Given the description of an element on the screen output the (x, y) to click on. 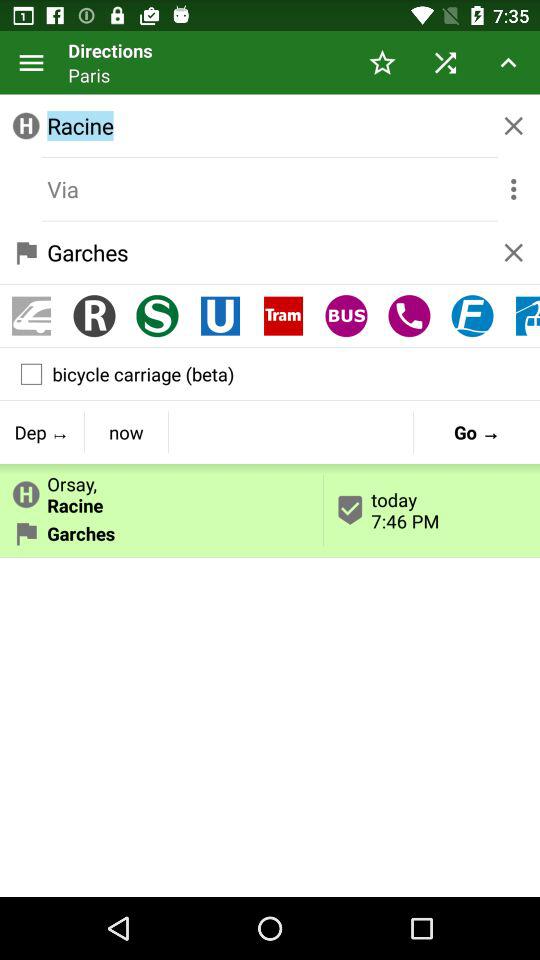
click item to the left of now button (42, 431)
